Given the description of an element on the screen output the (x, y) to click on. 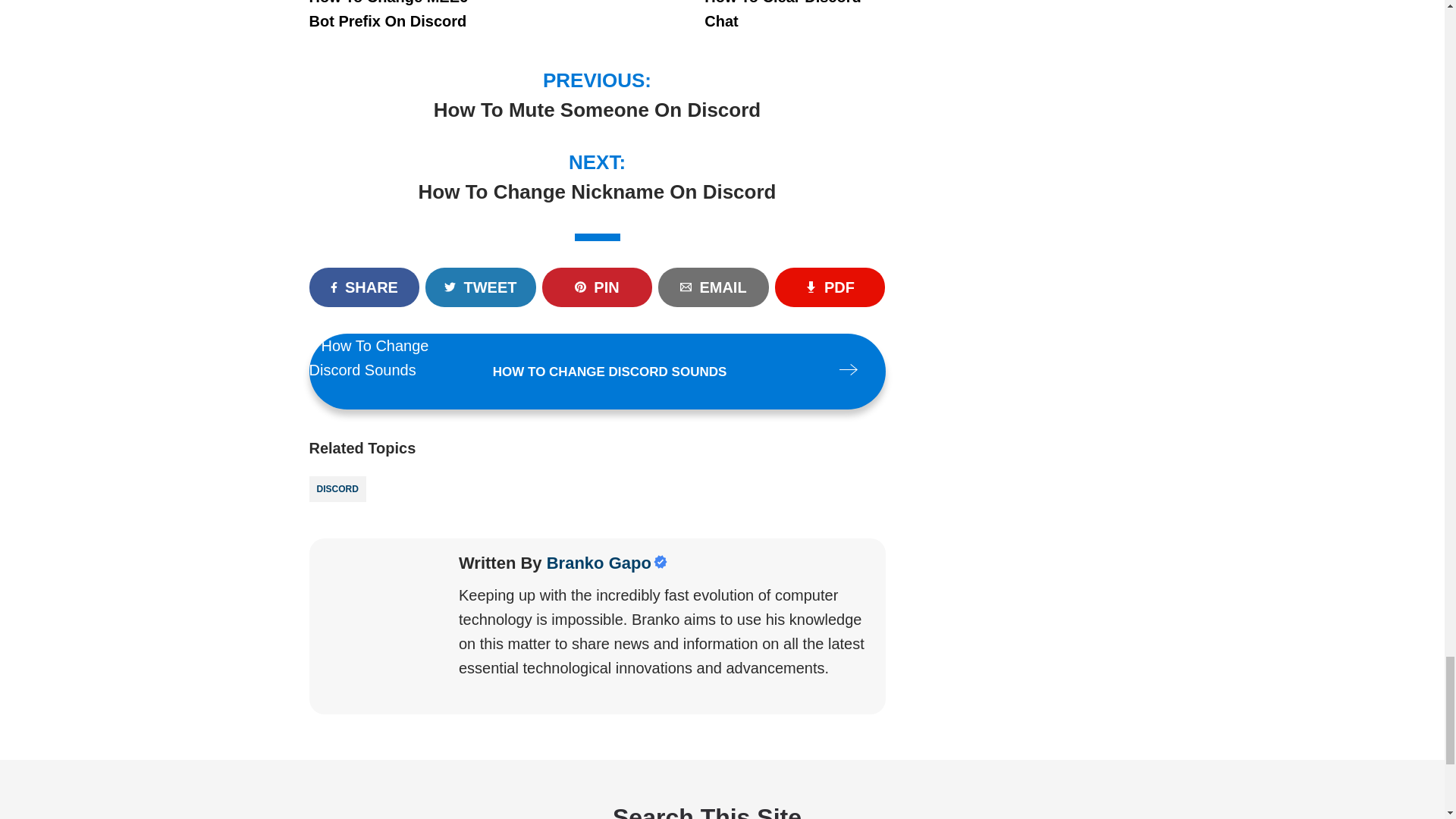
Download PDF (829, 287)
